Given the description of an element on the screen output the (x, y) to click on. 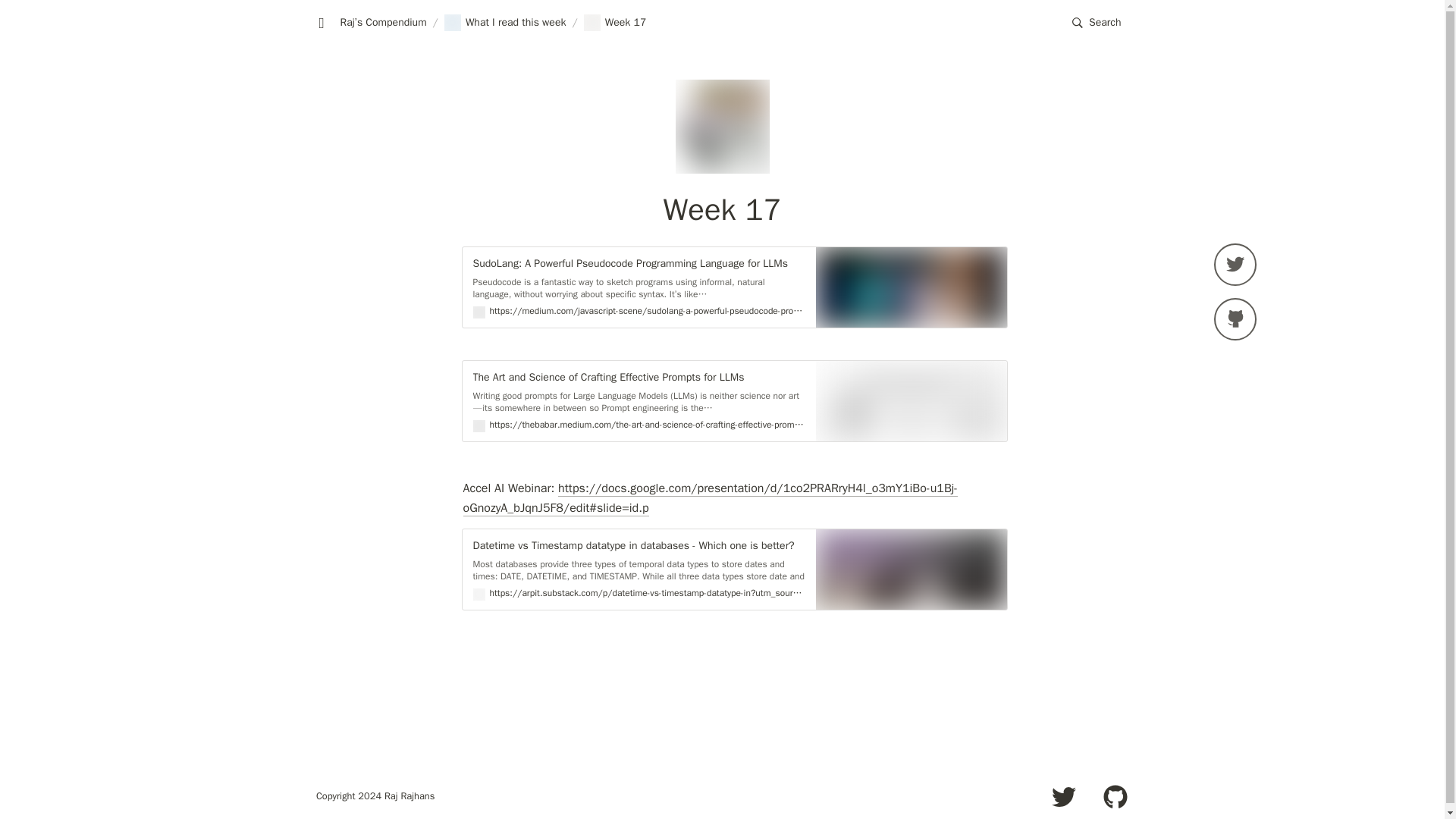
What I read this week (504, 22)
